Given the description of an element on the screen output the (x, y) to click on. 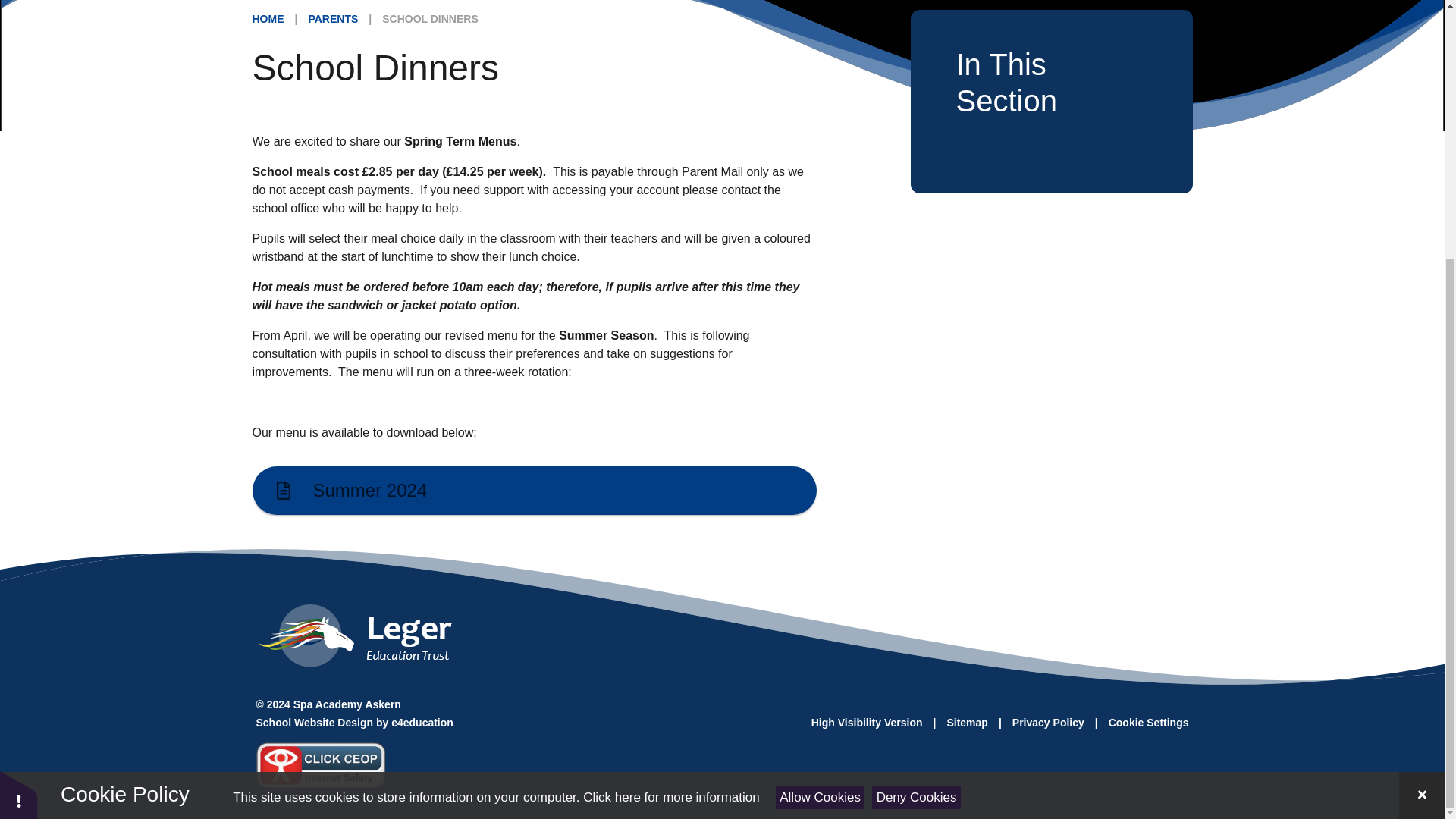
Cookie Settings (1148, 722)
See cookie policy (670, 427)
Deny Cookies (915, 427)
Allow Cookies (820, 427)
